Given the description of an element on the screen output the (x, y) to click on. 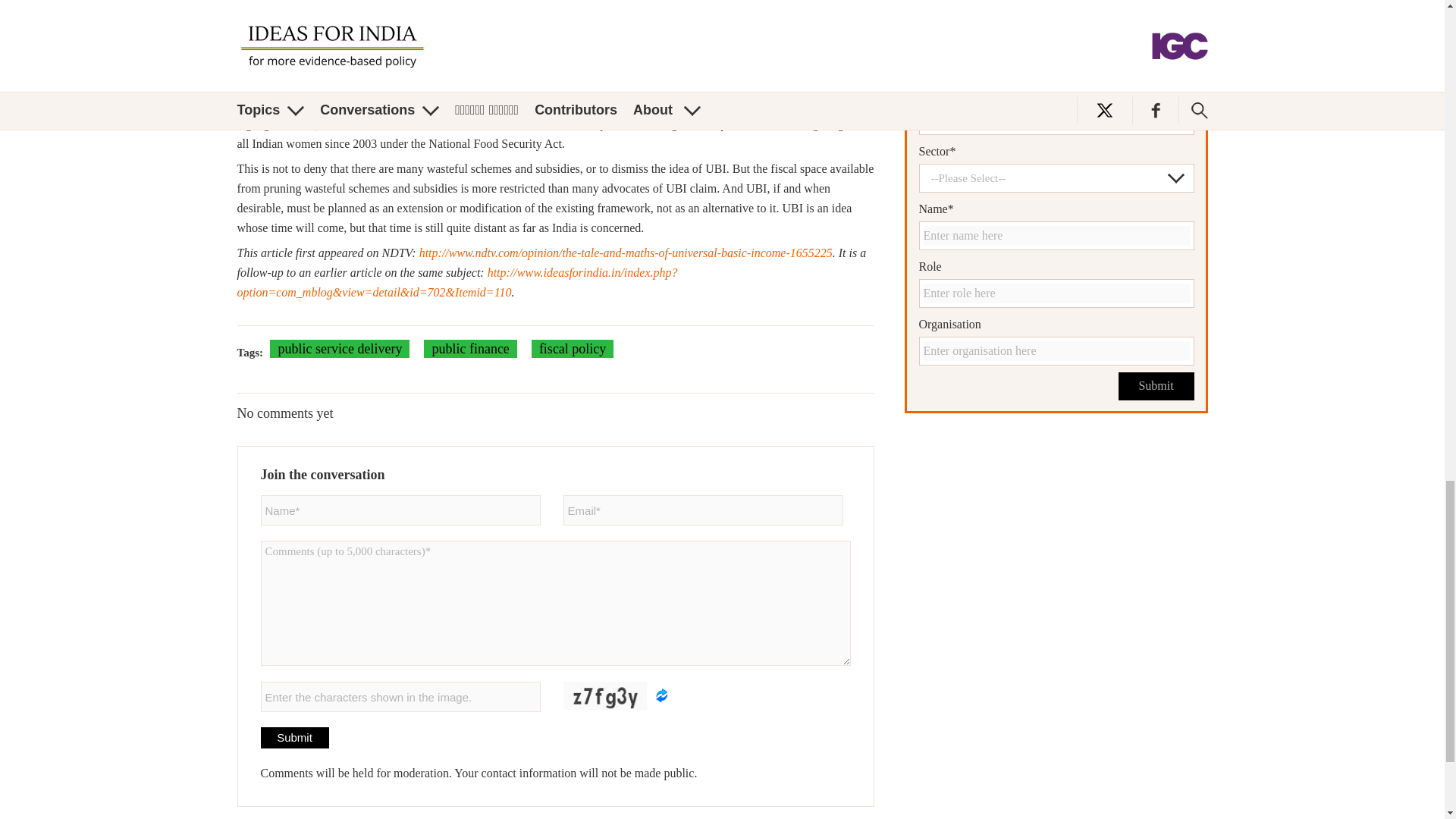
Submit (1155, 386)
Submit (294, 737)
--Select topic-- (1056, 62)
Verification code (400, 696)
Submit (1155, 386)
Captcha Reload (661, 695)
